Given the description of an element on the screen output the (x, y) to click on. 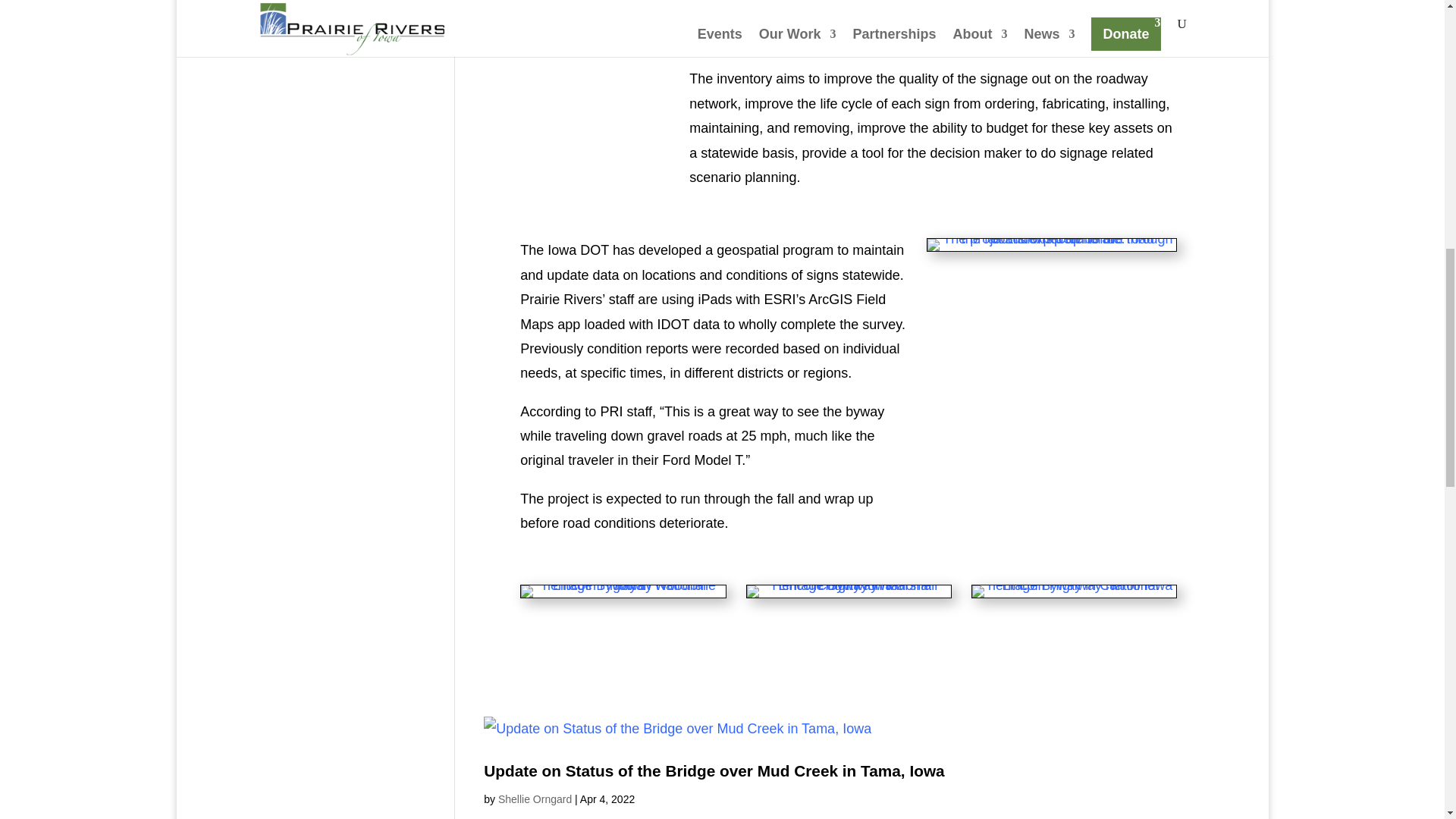
Shellie Orngard (534, 799)
Lincoln Highway National Heritage Byway in Woodbine Iowa (623, 591)
Lincoln Highway Natiional heritage Byway in Carroll Iowa (1073, 597)
Lincoln Highway National Heritage Byway in Marshall County (848, 591)
Lincoln Highway National heritage Byway in Woodbine Iowa (622, 597)
Update on Status of the Bridge over Mud Creek in Tama, Iowa (713, 770)
